Given the description of an element on the screen output the (x, y) to click on. 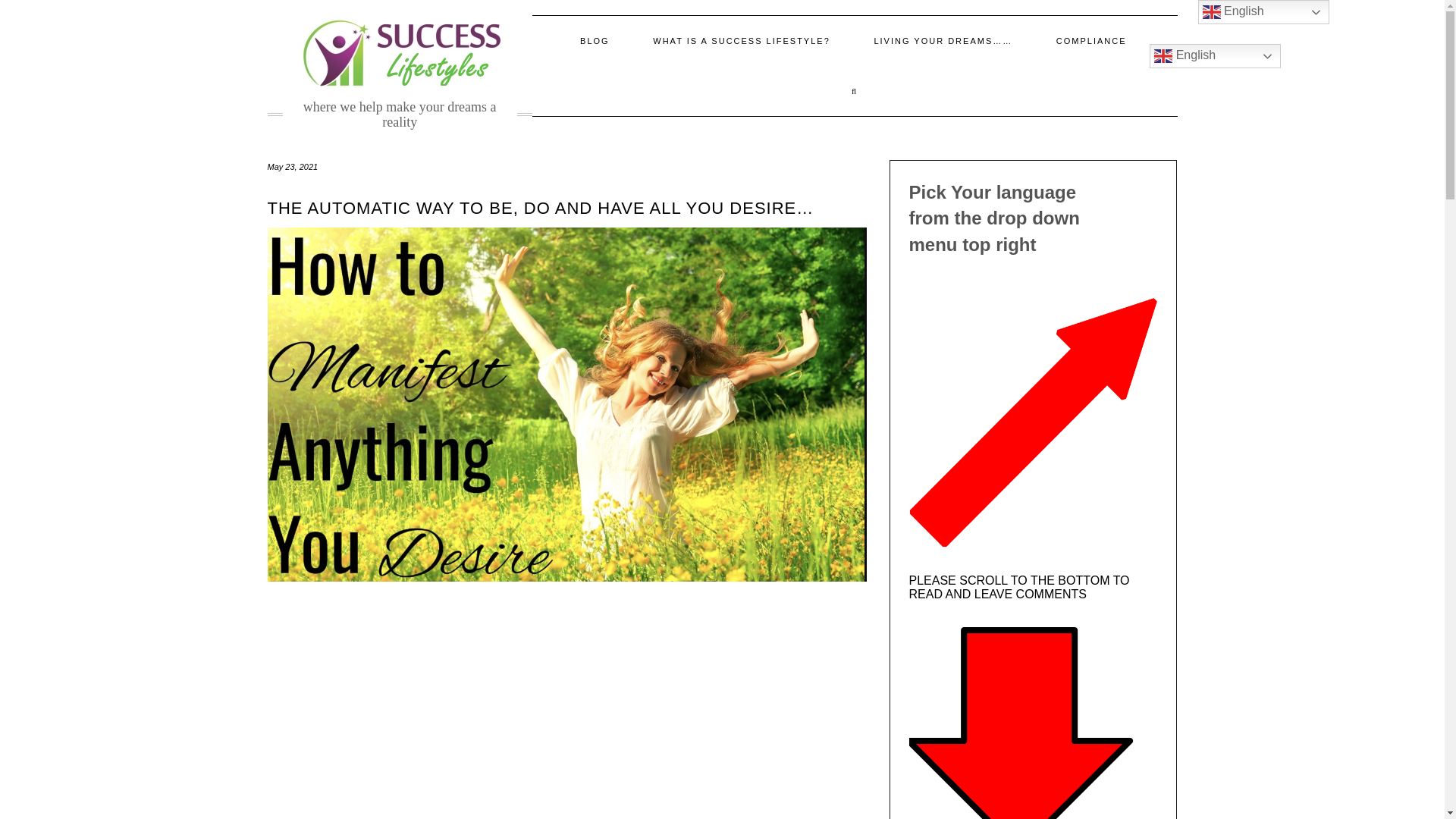
WHAT IS A SUCCESS LIFESTYLE? (740, 40)
BLOG (594, 40)
COMPLIANCE (1091, 40)
